Given the description of an element on the screen output the (x, y) to click on. 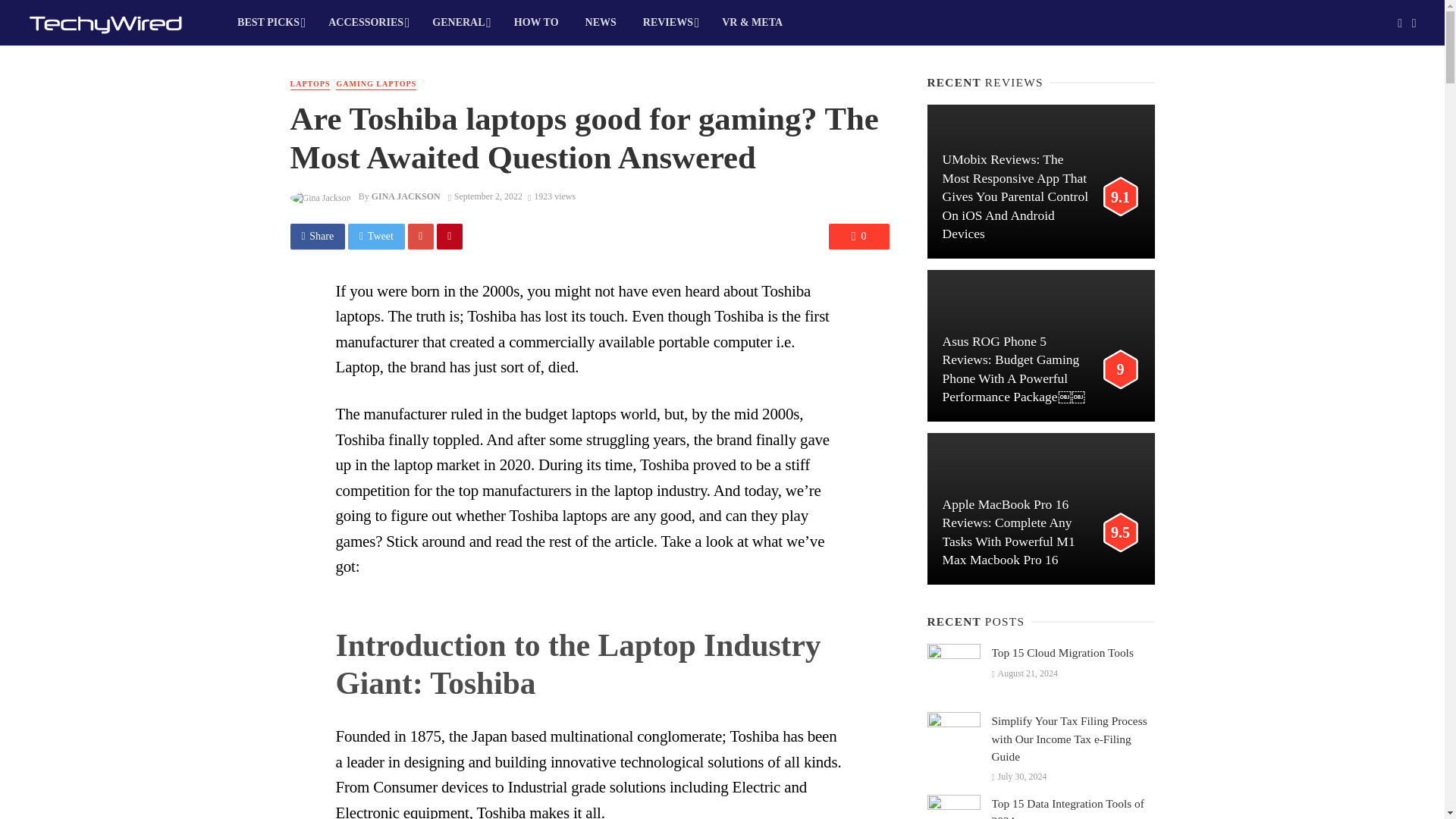
ACCESSORIES (367, 22)
Share on Twitter (375, 236)
Posts by Gina Jackson (406, 195)
0 Comments (858, 236)
BEST PICKS (269, 22)
GENERAL (459, 22)
Share on Facebook (317, 236)
September 2, 2022 at 4:28 am (485, 195)
Share on Pinterest (449, 236)
